Given the description of an element on the screen output the (x, y) to click on. 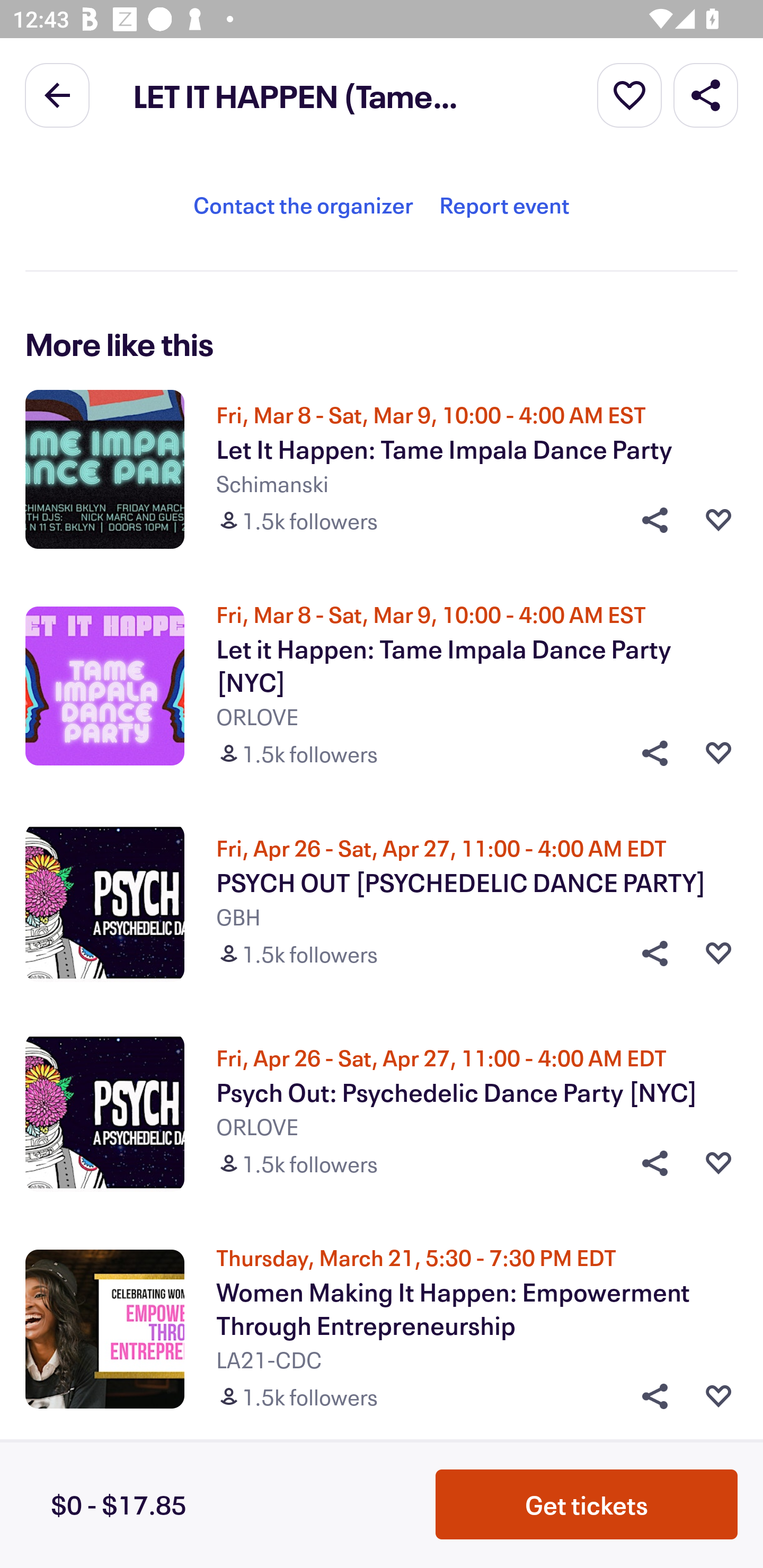
Back (57, 94)
More (629, 94)
Share (705, 94)
Contact the organizer (303, 204)
Report event (504, 204)
Share (648, 519)
Like (718, 519)
Share (648, 753)
Like (718, 753)
Share (648, 952)
Like (718, 952)
Share (648, 1163)
Like (718, 1163)
Share (648, 1395)
Like (718, 1395)
Get tickets (586, 1504)
